Given the description of an element on the screen output the (x, y) to click on. 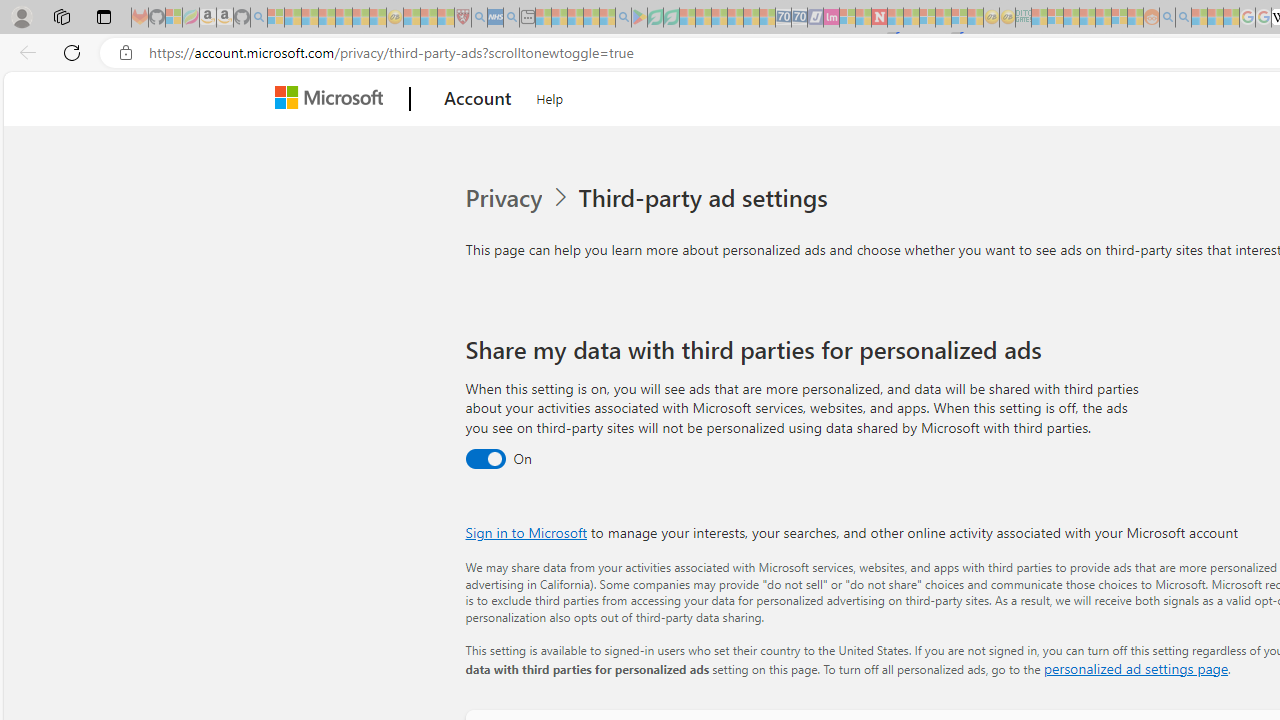
Third party data sharing toggle (484, 459)
Sign in to Microsoft (525, 532)
